Given the description of an element on the screen output the (x, y) to click on. 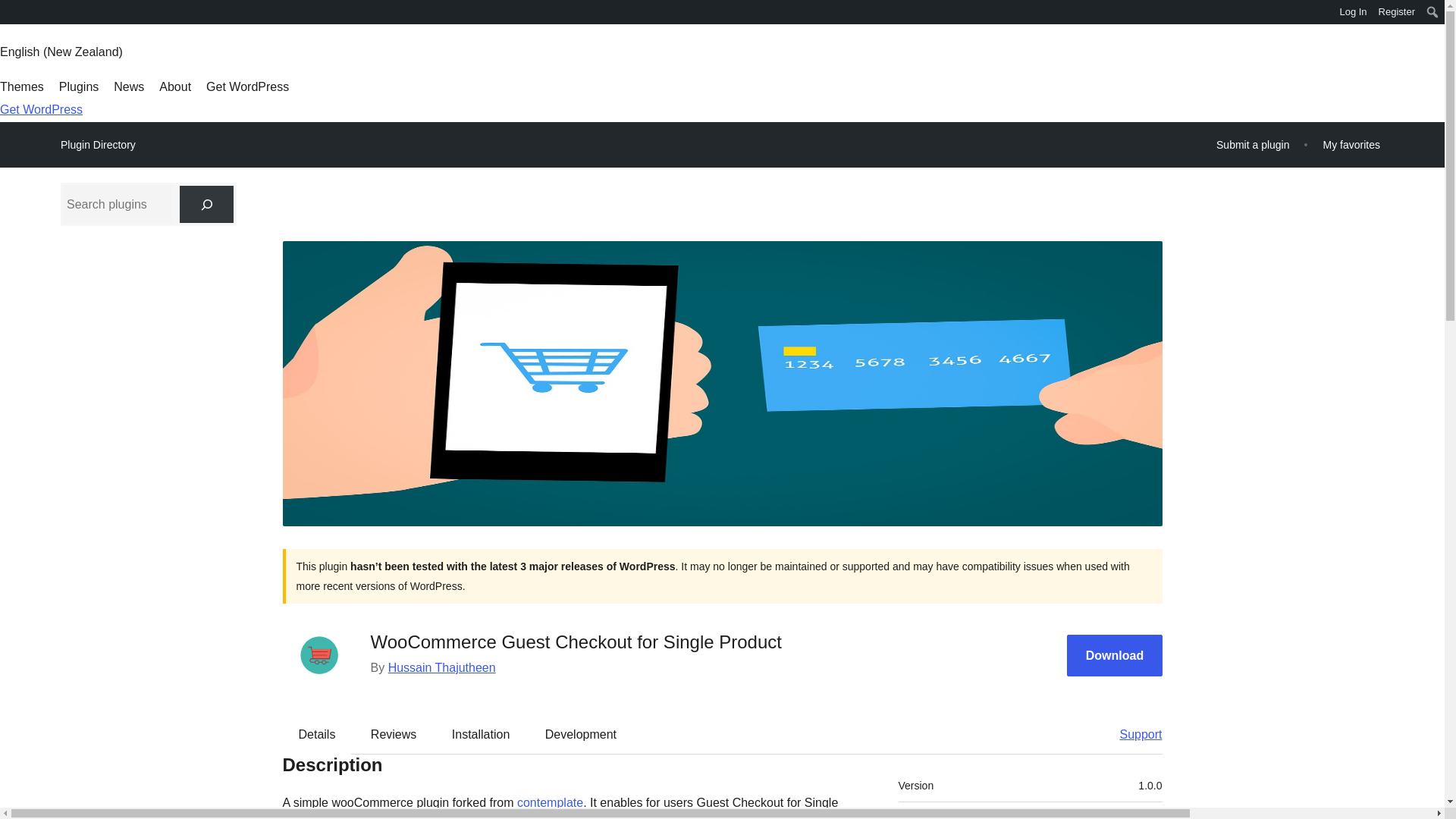
Themes (21, 87)
Plugins (79, 87)
Download (1114, 655)
contemplate (549, 802)
About (174, 87)
Reviews (392, 733)
My favorites (1351, 144)
Installation (480, 733)
Hussain Thajutheen (442, 667)
Development (580, 733)
